Given the description of an element on the screen output the (x, y) to click on. 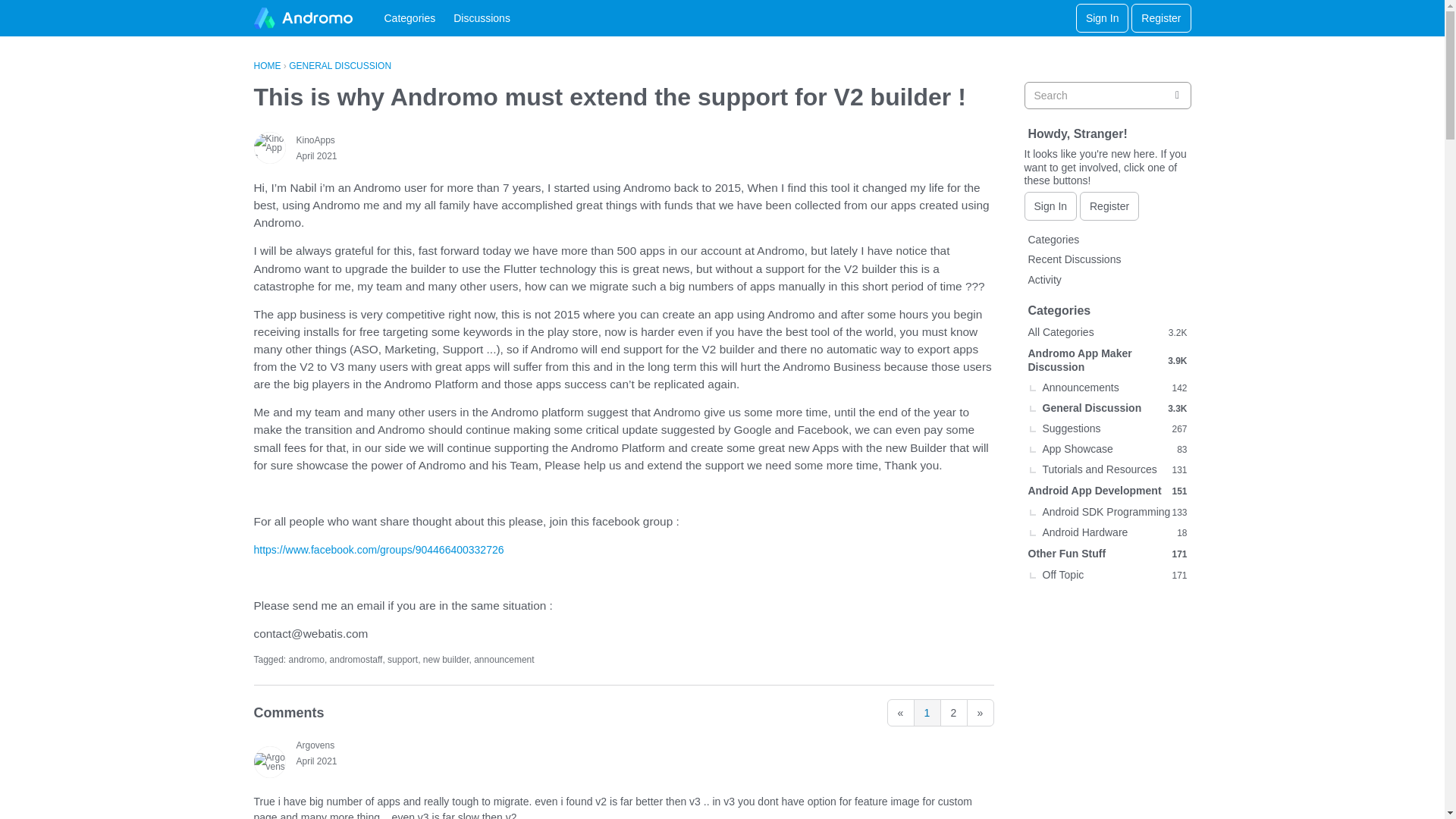
HOME (267, 65)
April 2021 (315, 155)
andromostaff (356, 659)
KinoApps (314, 140)
Argovens (314, 745)
Categories (409, 17)
April 18, 2021 2:40PM (315, 155)
KinoApps (269, 147)
support (402, 659)
1 (926, 712)
